Given the description of an element on the screen output the (x, y) to click on. 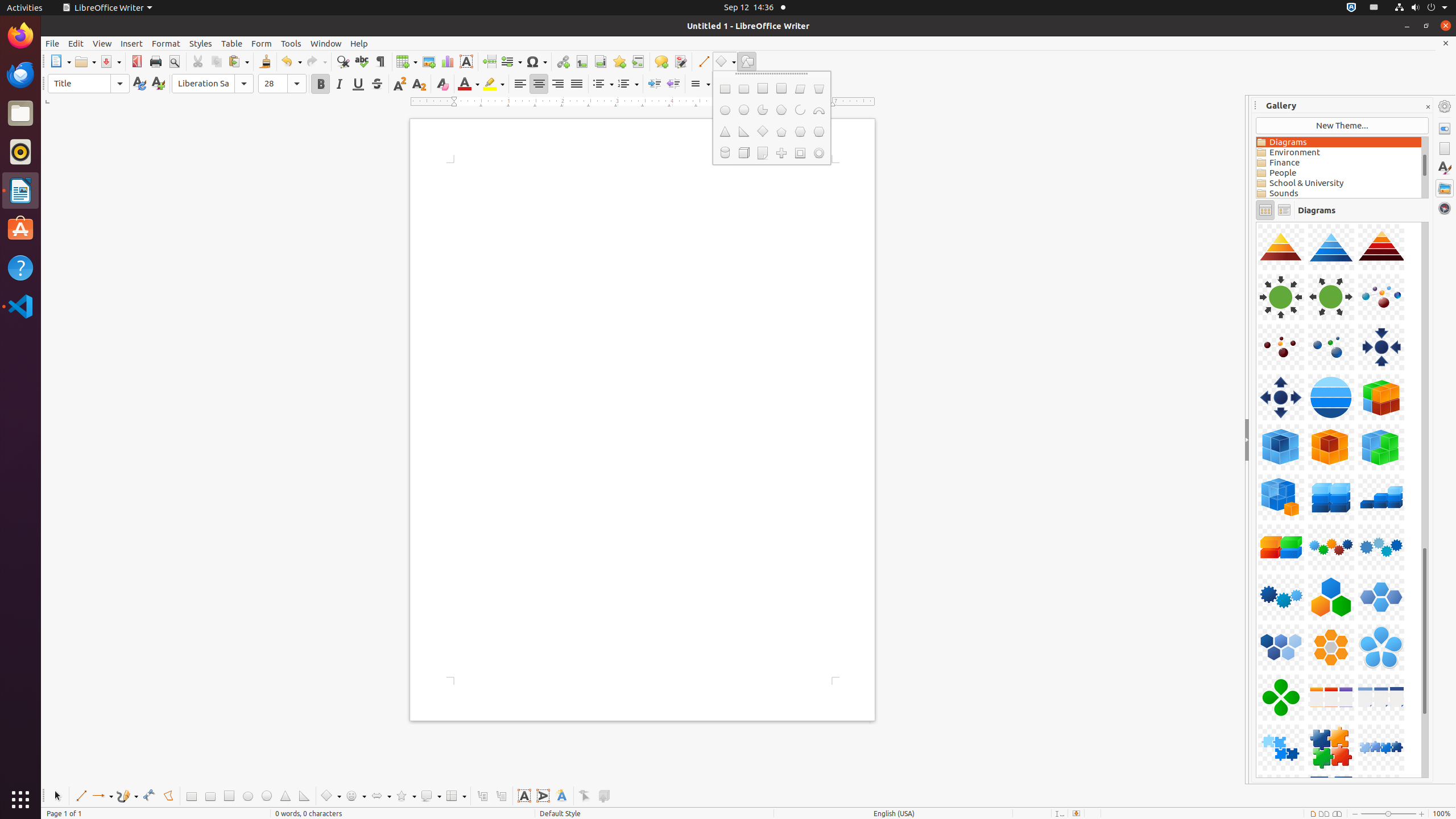
:1.21/StatusNotifierItem Element type: menu (1373, 7)
Component-Cube03-Green Element type: list-item (1256, 222)
Properties Element type: radio-button (1444, 128)
Files Element type: push-button (20, 113)
Block Arc Element type: toggle-button (818, 110)
